Given the description of an element on the screen output the (x, y) to click on. 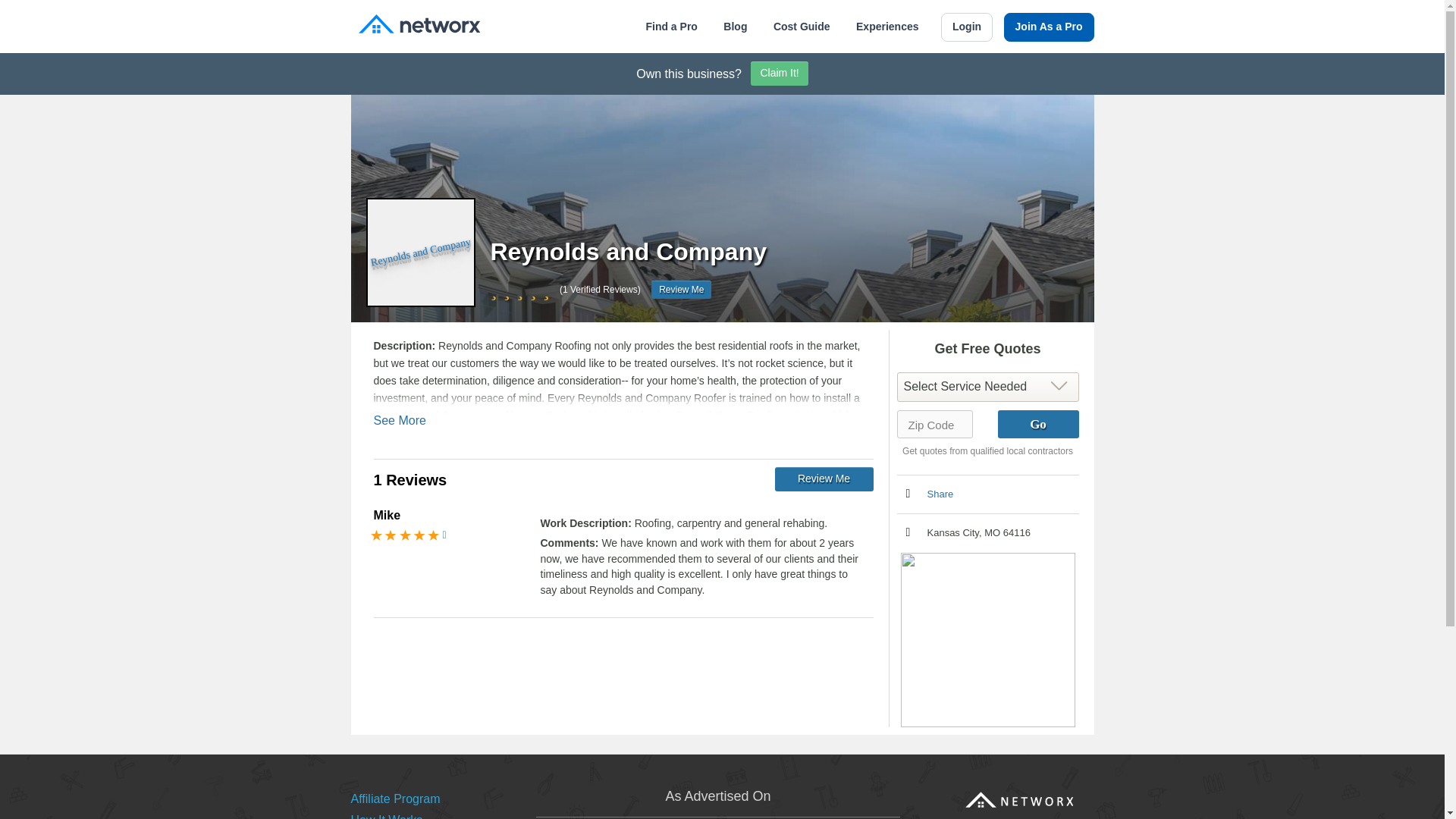
Login (966, 27)
Claim It! (779, 73)
Go (1037, 424)
Find a Pro (670, 26)
Join As a Pro (1049, 27)
Networx (418, 25)
How It Works (386, 816)
Cost Guide (801, 26)
Review Me (823, 478)
Experiences (887, 26)
Go (1037, 424)
Review Me (680, 289)
Affiliate Program (394, 798)
